Given the description of an element on the screen output the (x, y) to click on. 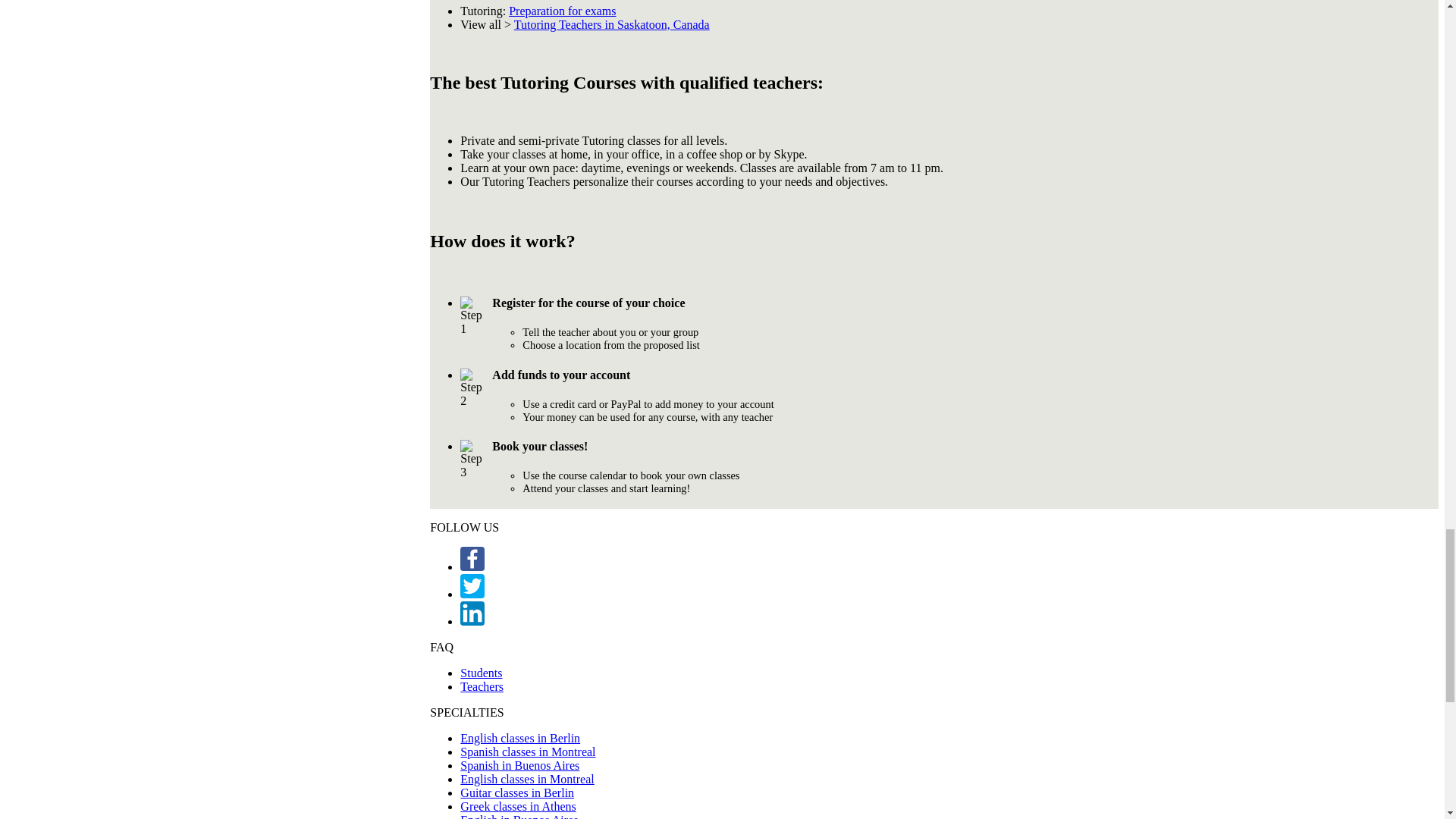
Follow us on Facebook (472, 566)
Follow us on LinkedIn (472, 613)
Follow us on Facebook (472, 558)
Follow us on Twitter (472, 586)
Follow us on LinkedIn (472, 621)
Follow us on Twitter (472, 594)
